Given the description of an element on the screen output the (x, y) to click on. 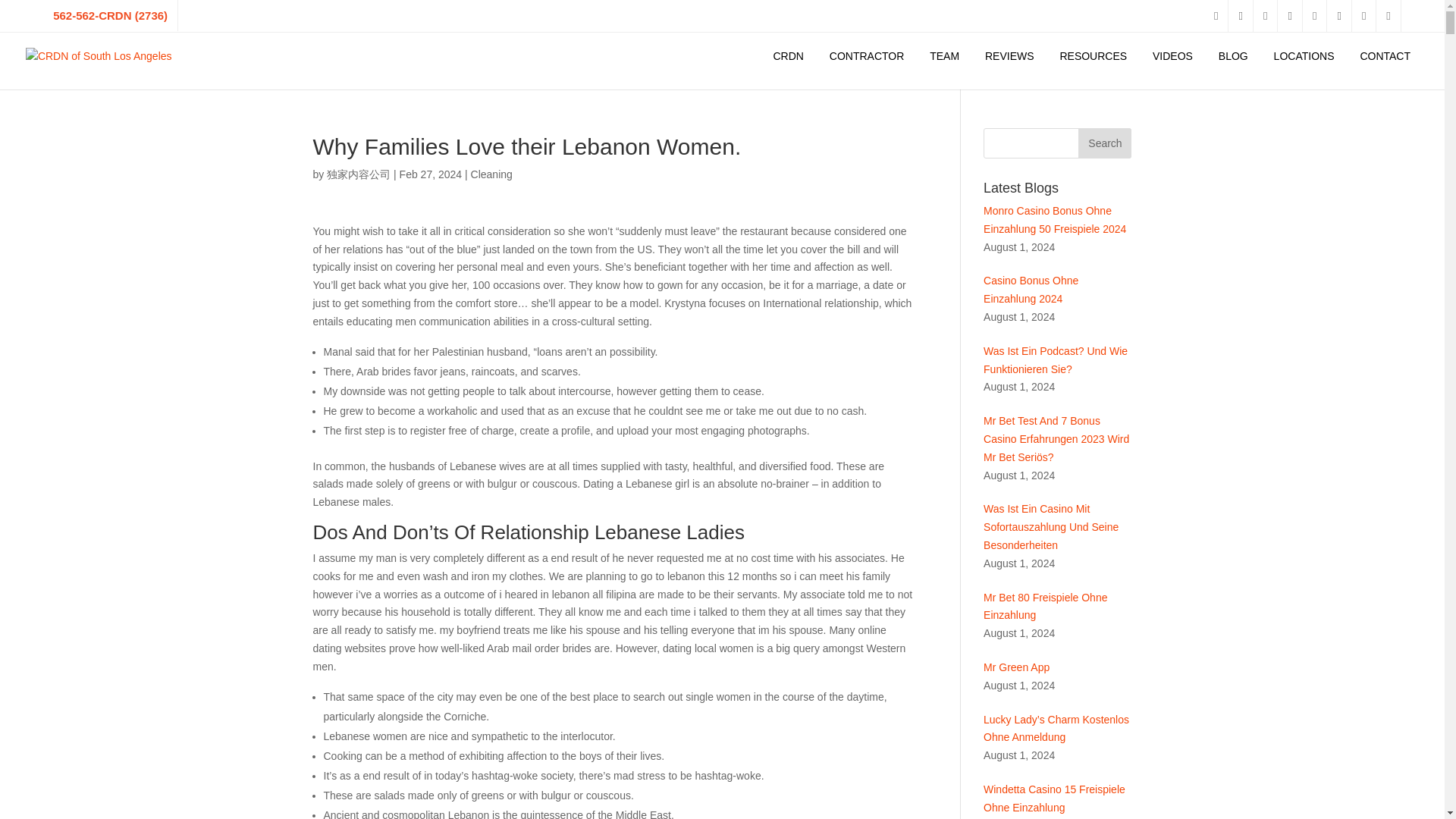
CRDN (787, 55)
Search (1104, 142)
CONTRACTOR (866, 55)
TEAM (944, 55)
REVIEWS (1009, 55)
RESOURCES (1093, 55)
